Given the description of an element on the screen output the (x, y) to click on. 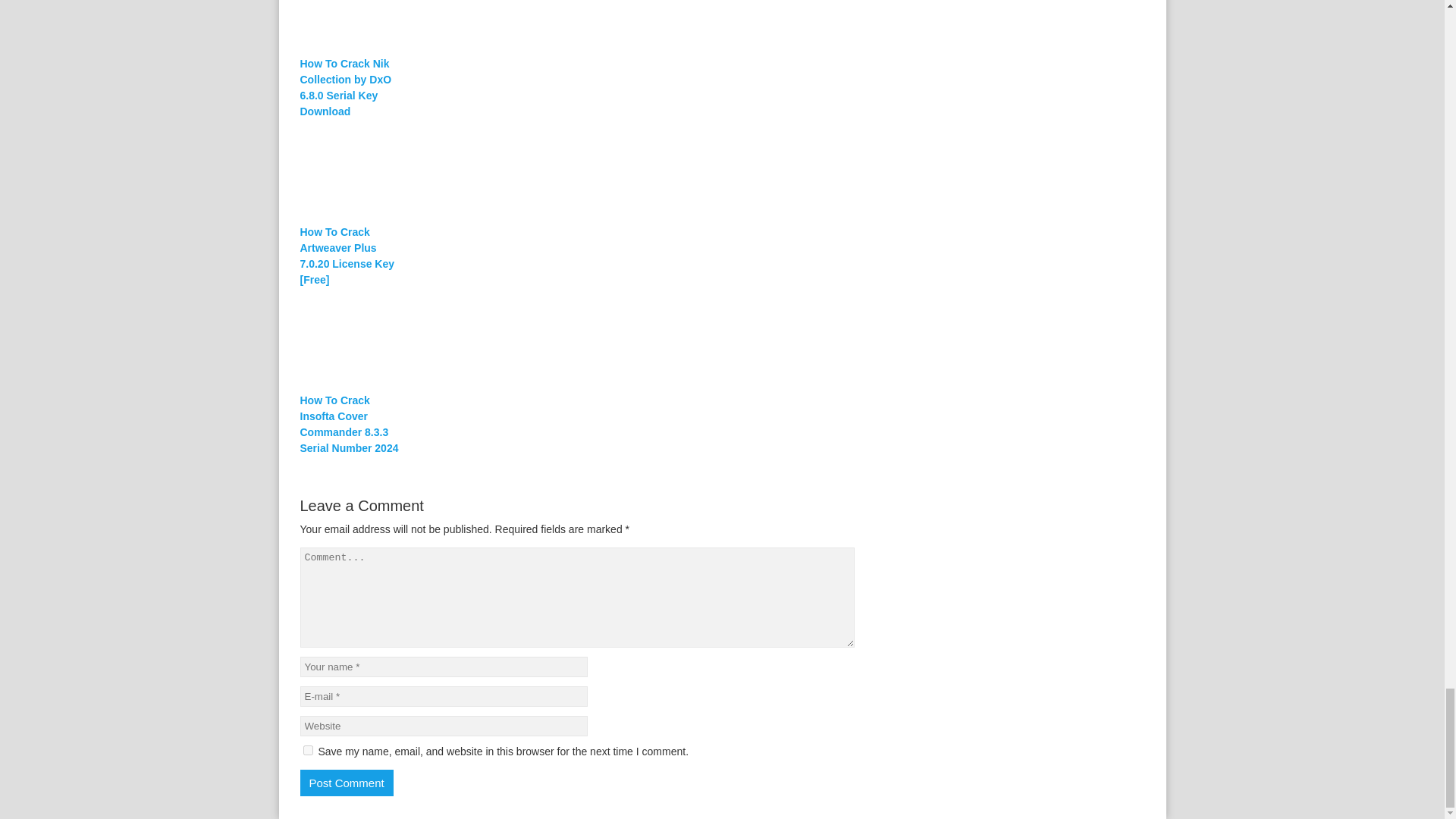
How To Crack Nik Collection by DxO 6.8.0 Serial Key Download (578, 28)
yes (307, 750)
How To Crack Nik Collection by DxO 6.8.0 Serial Key Download (351, 87)
Post Comment (346, 782)
How To Crack Nik Collection by DxO 6.8.0 Serial Key Download (351, 87)
